Given the description of an element on the screen output the (x, y) to click on. 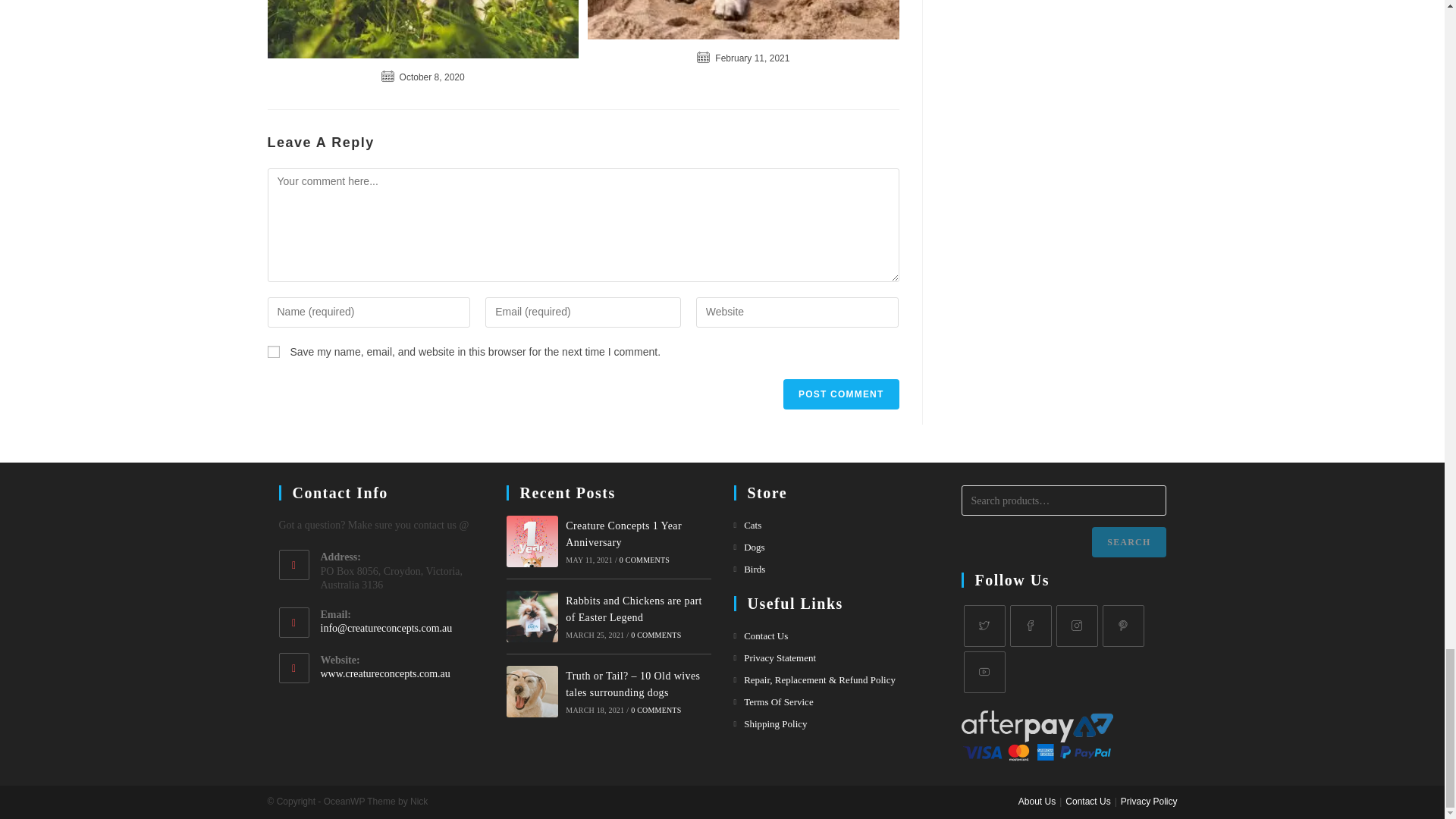
Creature Concepts 1 Year Anniversary (531, 541)
yes (272, 351)
Dog theft (422, 29)
Post Comment (840, 394)
Rabbits and Chickens are part of Easter Legend (531, 616)
Dog theft (743, 19)
